Given the description of an element on the screen output the (x, y) to click on. 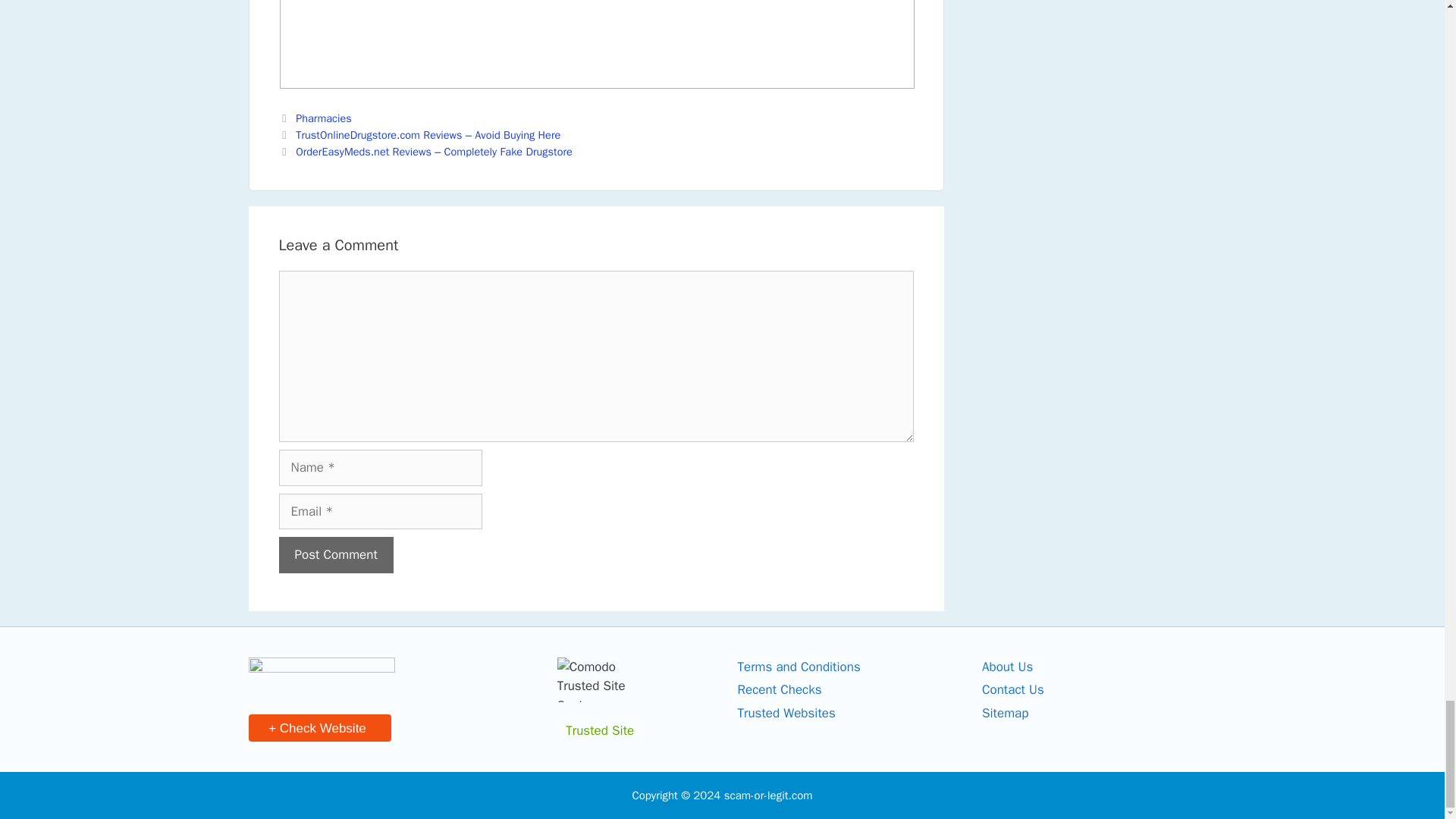
Post Comment (336, 555)
Post Comment (336, 555)
Pharmacies (323, 118)
